Given the description of an element on the screen output the (x, y) to click on. 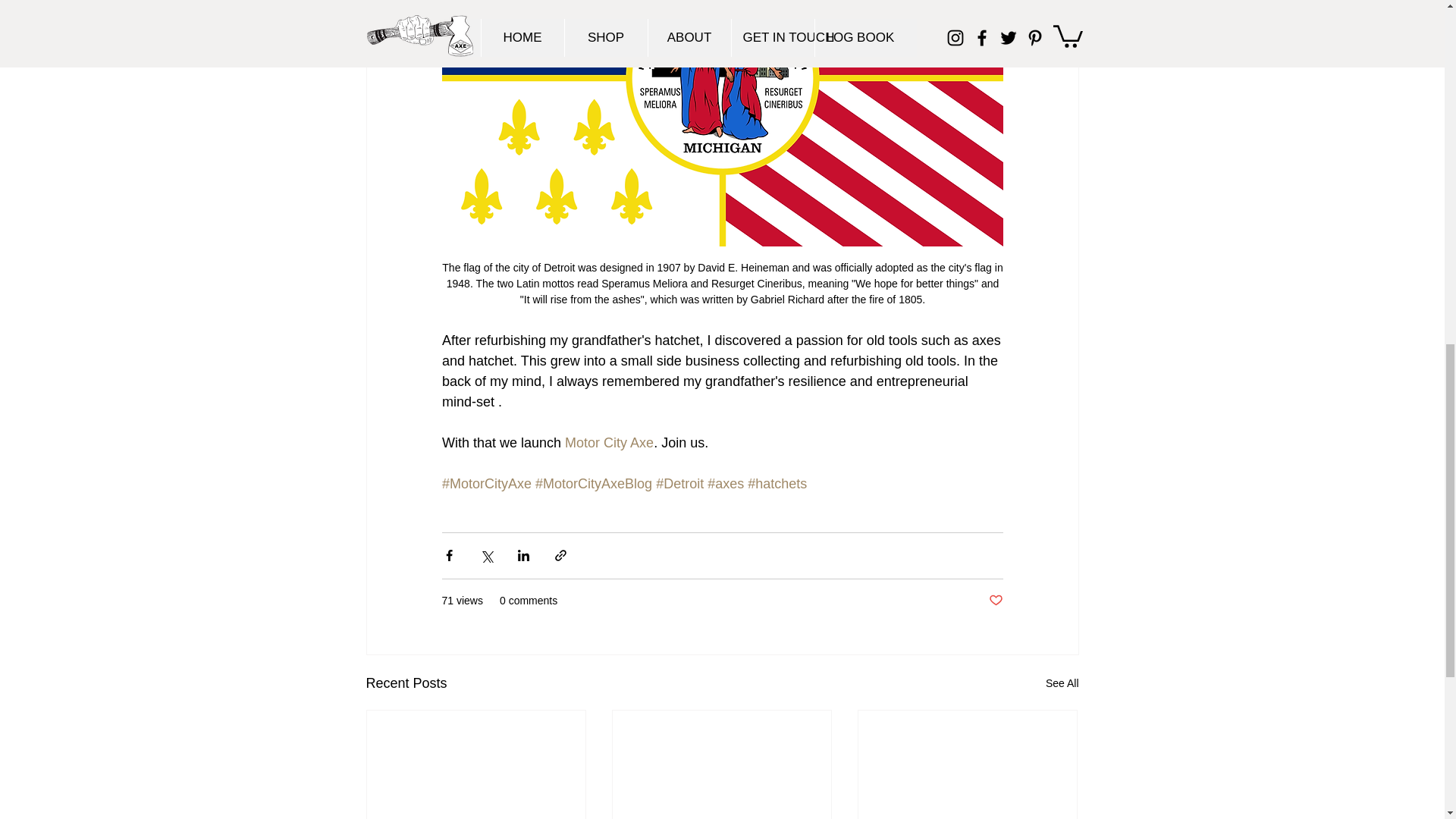
See All (1061, 683)
Post not marked as liked (995, 600)
Motor City Axe (608, 442)
